Given the description of an element on the screen output the (x, y) to click on. 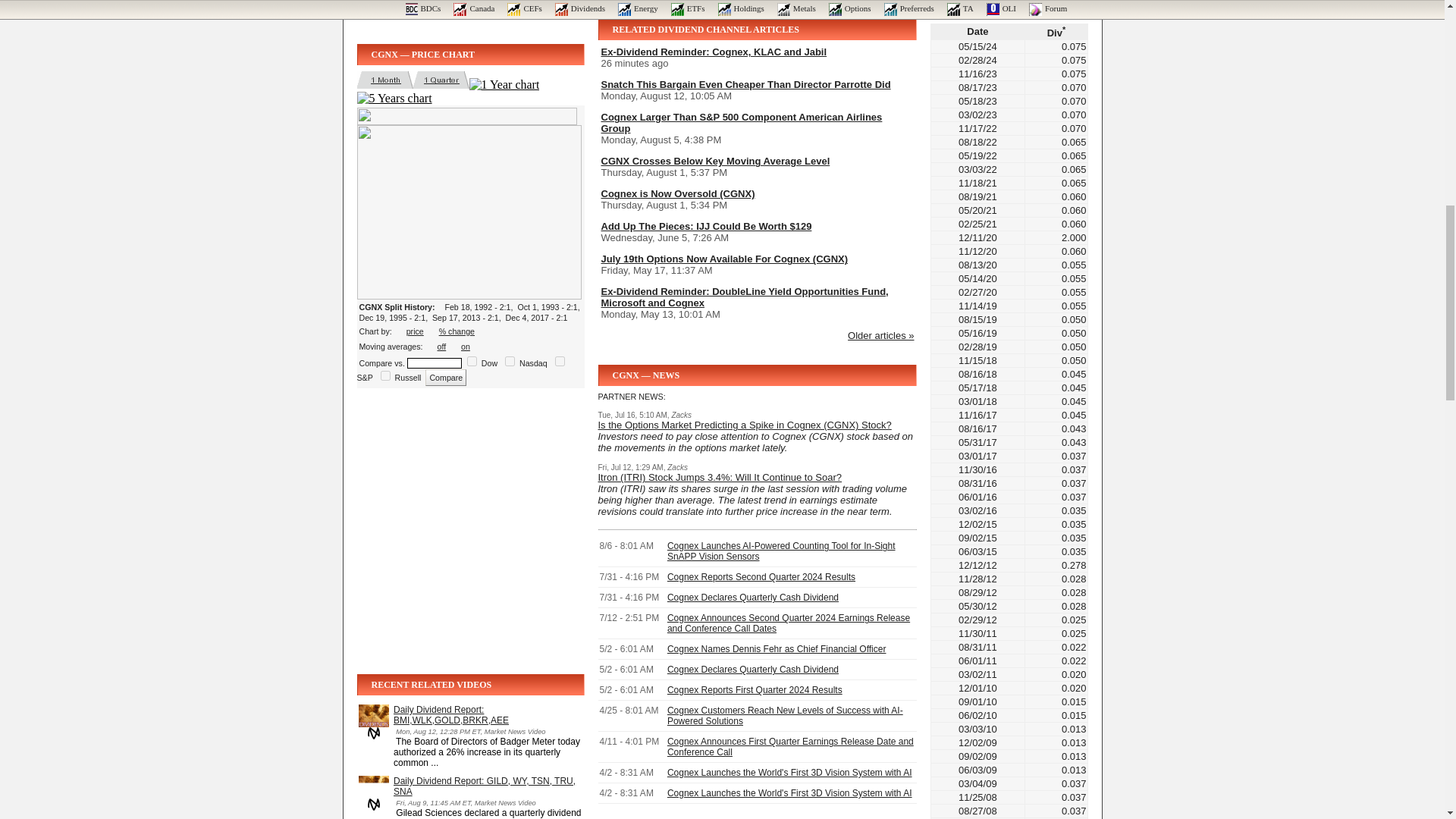
Compare (445, 377)
on (472, 361)
on (510, 361)
price (414, 330)
on (385, 375)
on (559, 361)
Top 10 Hedge Funds Holding CGNX (445, 8)
